Given the description of an element on the screen output the (x, y) to click on. 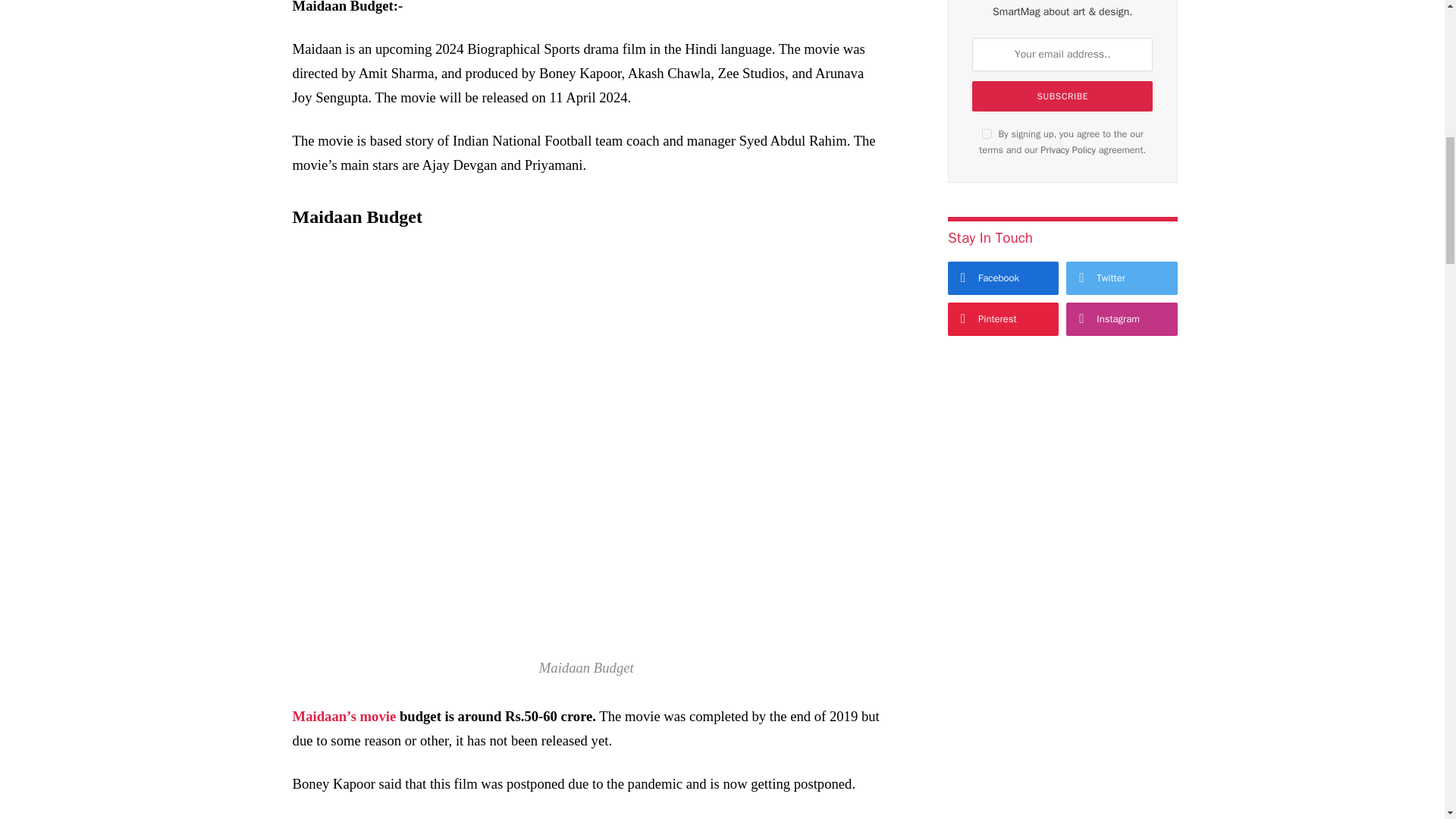
Subscribe (1062, 96)
on (986, 133)
